Given the description of an element on the screen output the (x, y) to click on. 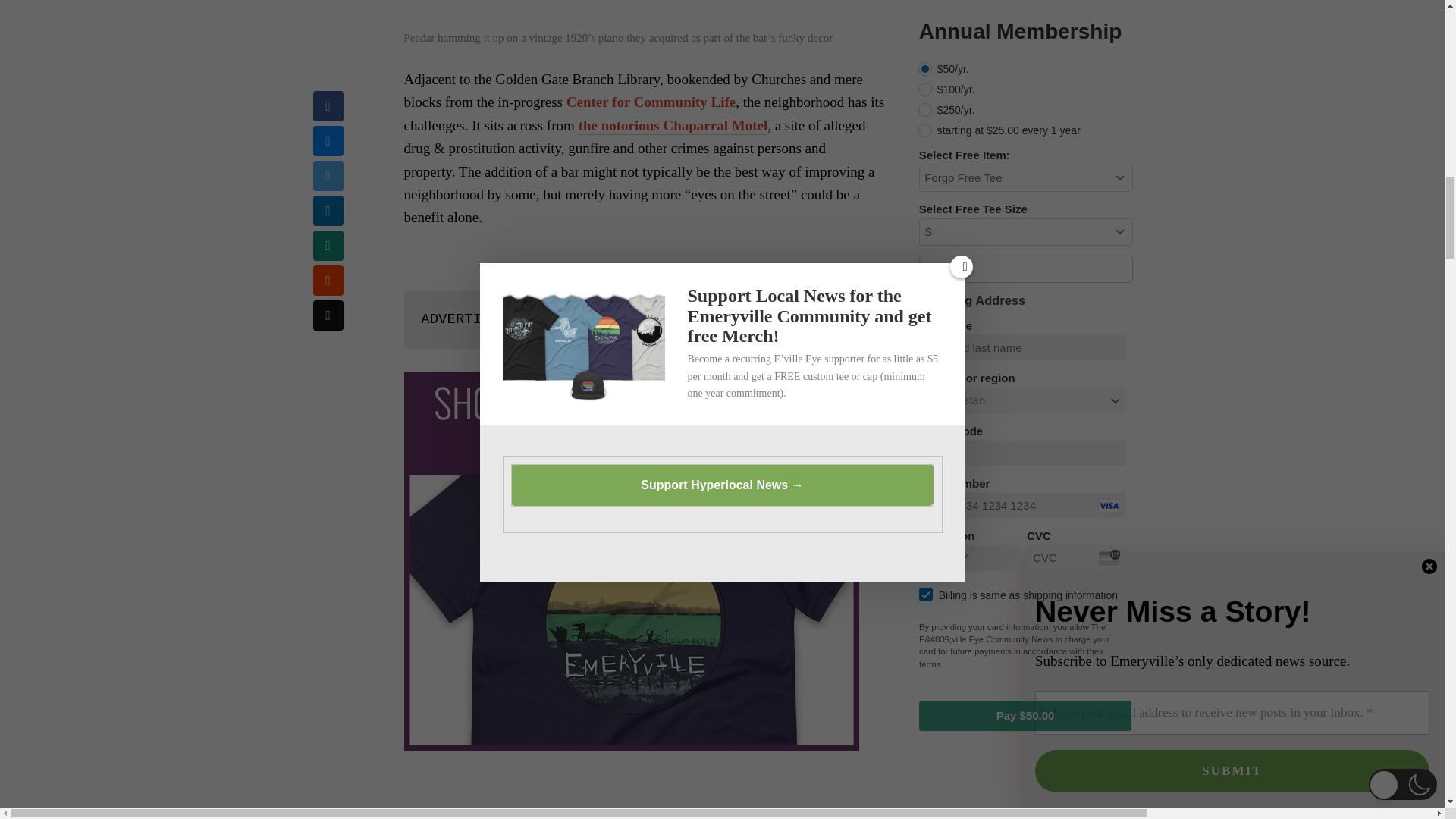
make-a-recurring-annual-payment-1515781151 (924, 69)
